Given the description of an element on the screen output the (x, y) to click on. 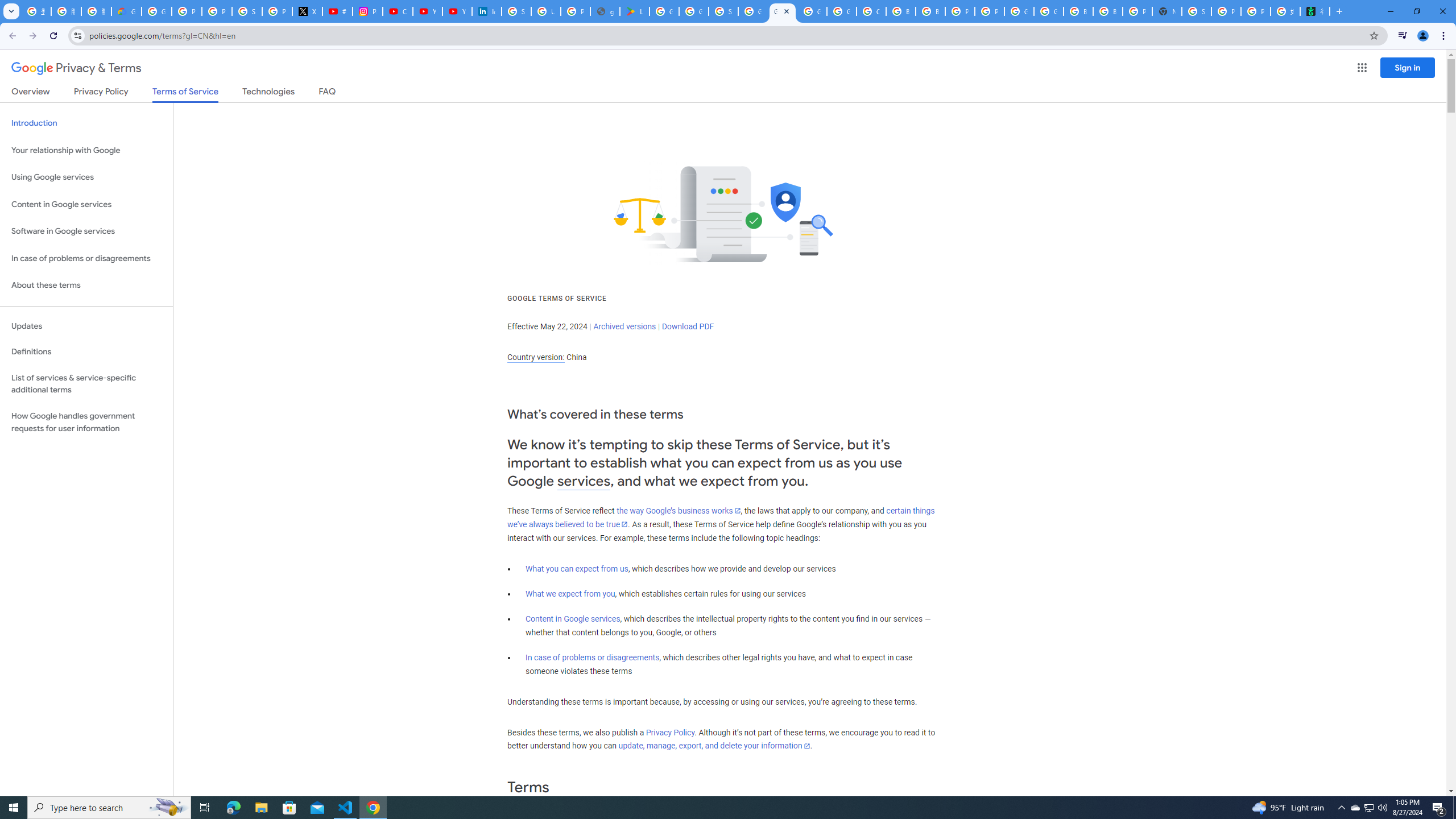
Browse Chrome as a guest - Computer - Google Chrome Help (900, 11)
Country version: (535, 357)
Your relationship with Google (86, 150)
Content in Google services (572, 618)
Archived versions (624, 326)
